Given the description of an element on the screen output the (x, y) to click on. 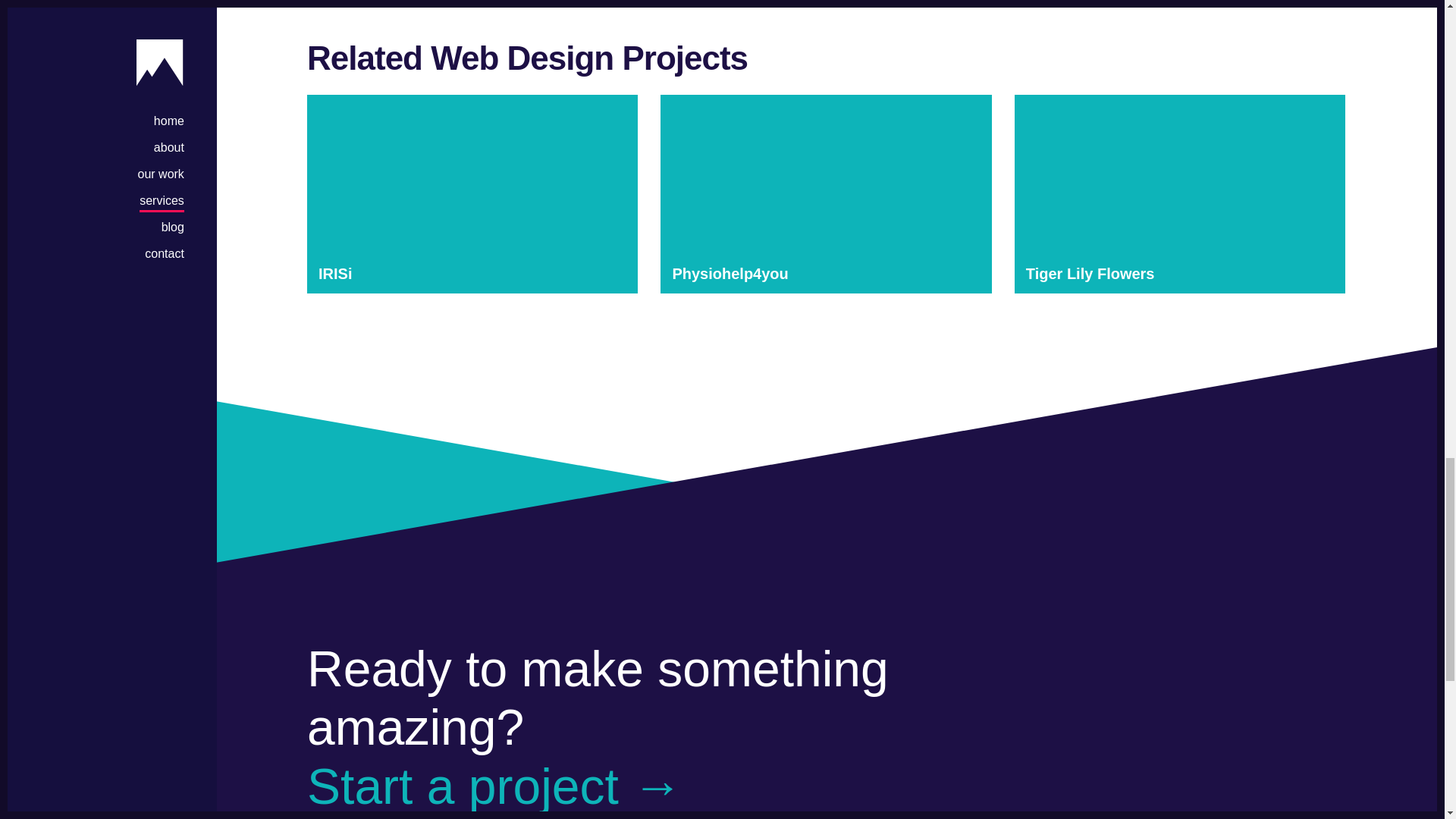
IRISi (472, 194)
Tiger Lily Flowers (1179, 194)
IRISi (472, 194)
Tiger Lily Flowers (1179, 194)
Physiohelp4you (826, 194)
Physiohelp4you (826, 194)
